Given the description of an element on the screen output the (x, y) to click on. 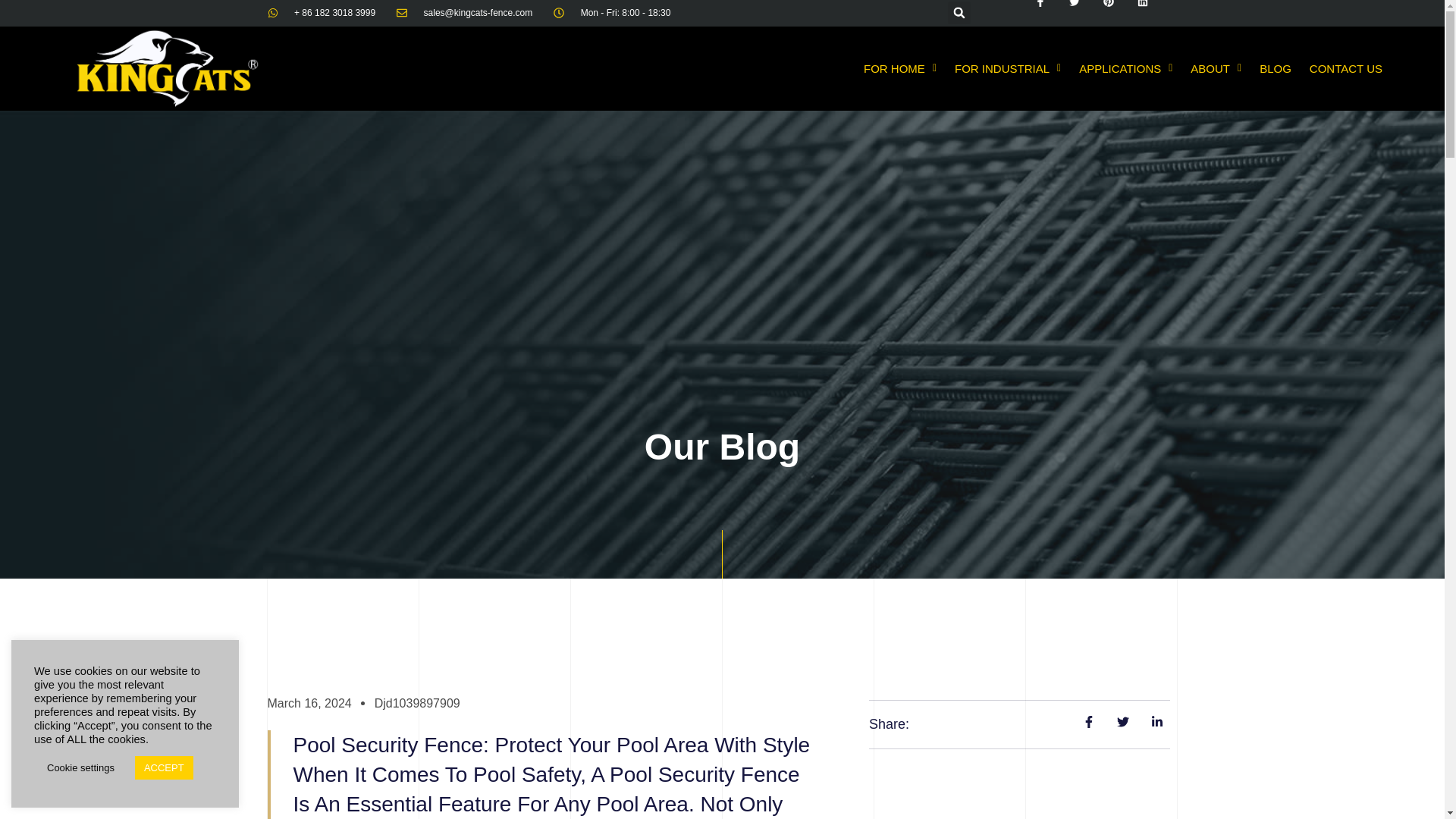
FOR INDUSTRIAL (1007, 67)
FOR HOME (899, 67)
